Given the description of an element on the screen output the (x, y) to click on. 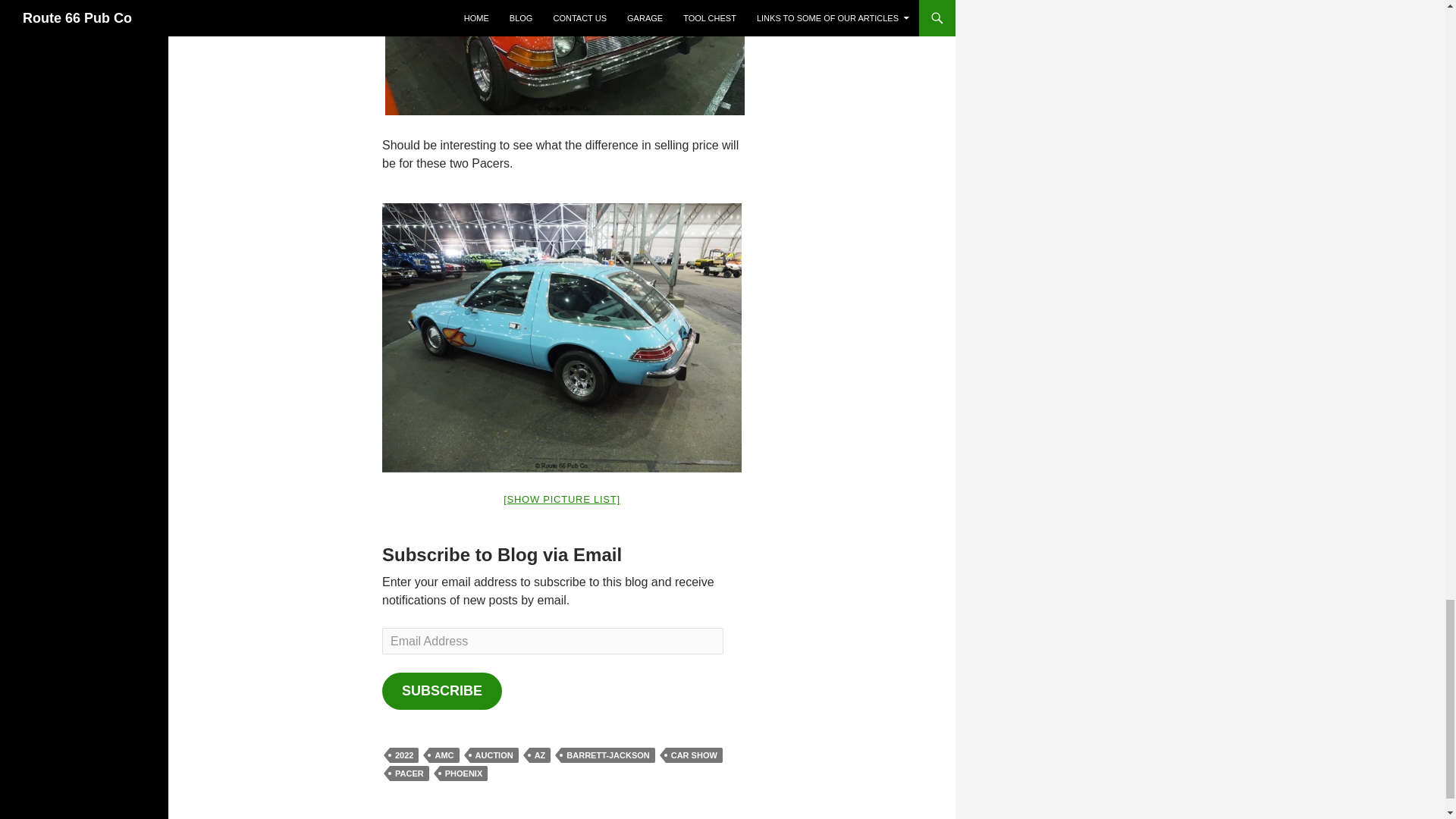
BARRETT-JACKSON (606, 754)
SUBSCRIBE (441, 691)
AUCTION (494, 754)
AMC (443, 754)
2022 (404, 754)
AZ (540, 754)
